Given the description of an element on the screen output the (x, y) to click on. 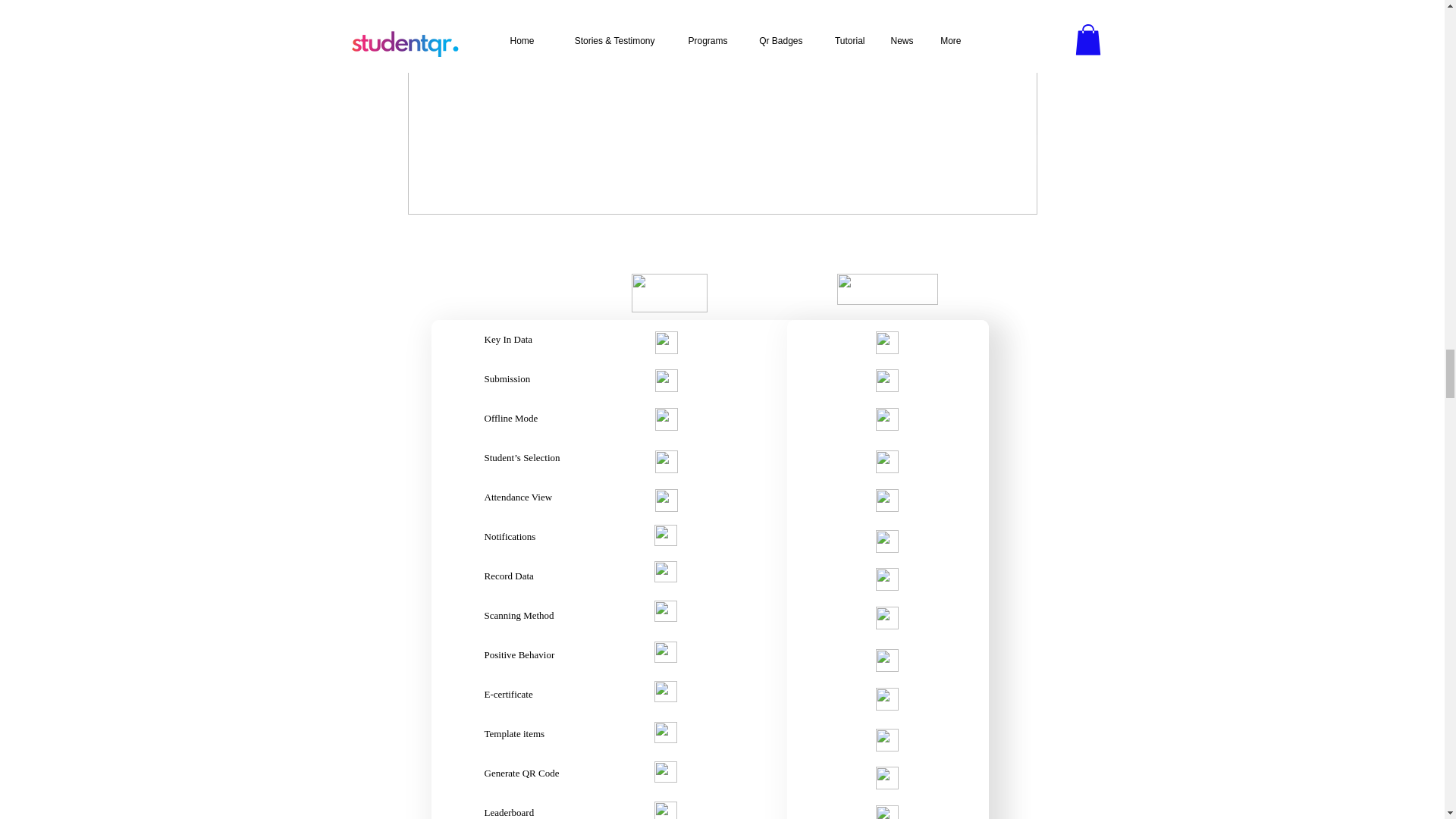
tick.png (886, 380)
tick.png (886, 617)
tick.png (886, 579)
tick.png (886, 418)
tick.png (886, 499)
logo studentqr new color.png (887, 288)
tick.png (886, 660)
tick.png (886, 540)
tick.png (886, 698)
tick.png (886, 739)
tick.png (886, 342)
tick.png (886, 461)
tick.png (666, 342)
tick.png (886, 777)
excell-removebg-preview.png (668, 292)
